Given the description of an element on the screen output the (x, y) to click on. 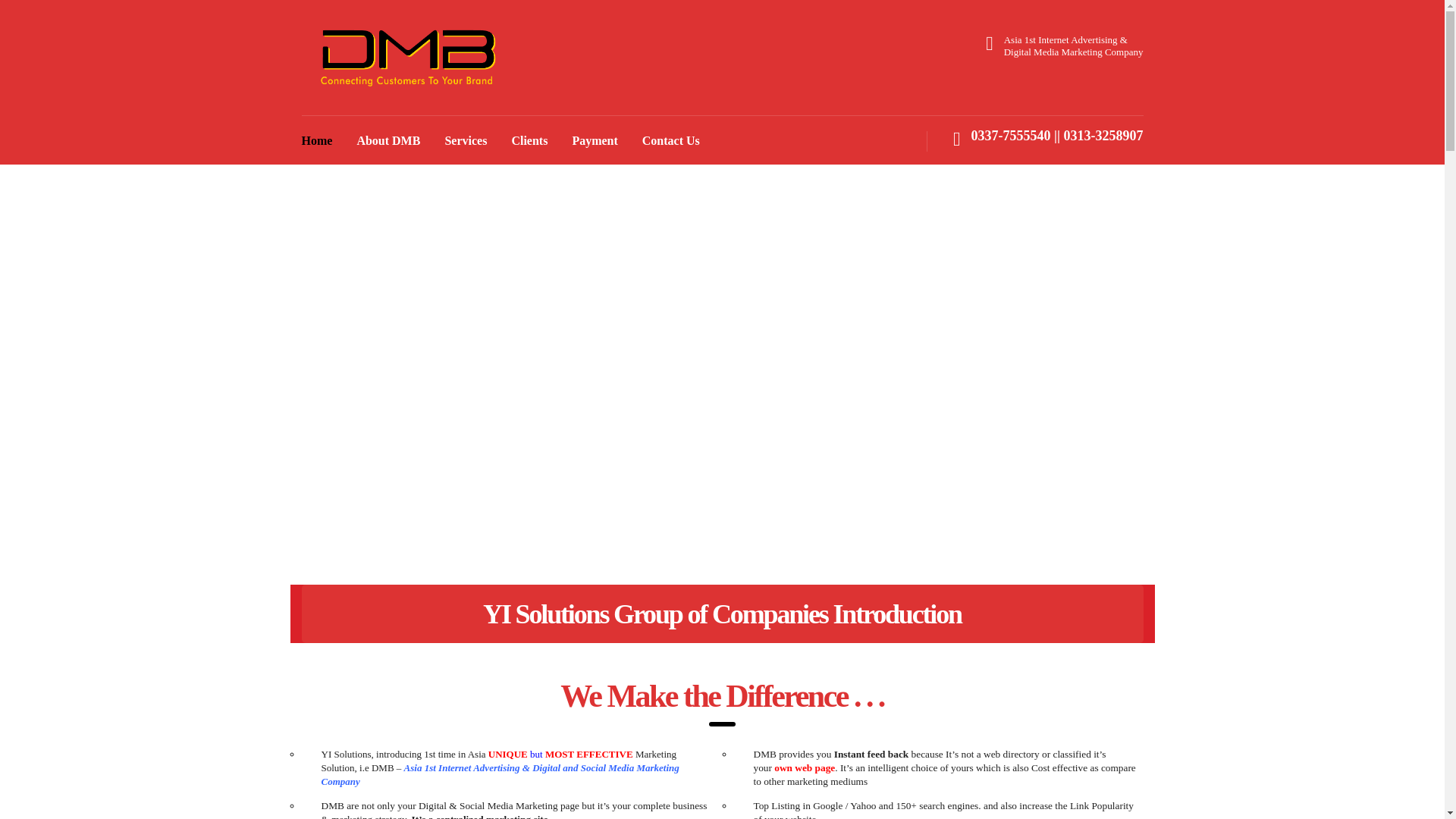
Payment (593, 140)
Services (465, 140)
About DMB (387, 140)
Contact Us (670, 140)
Clients (529, 140)
Home (317, 140)
